Given the description of an element on the screen output the (x, y) to click on. 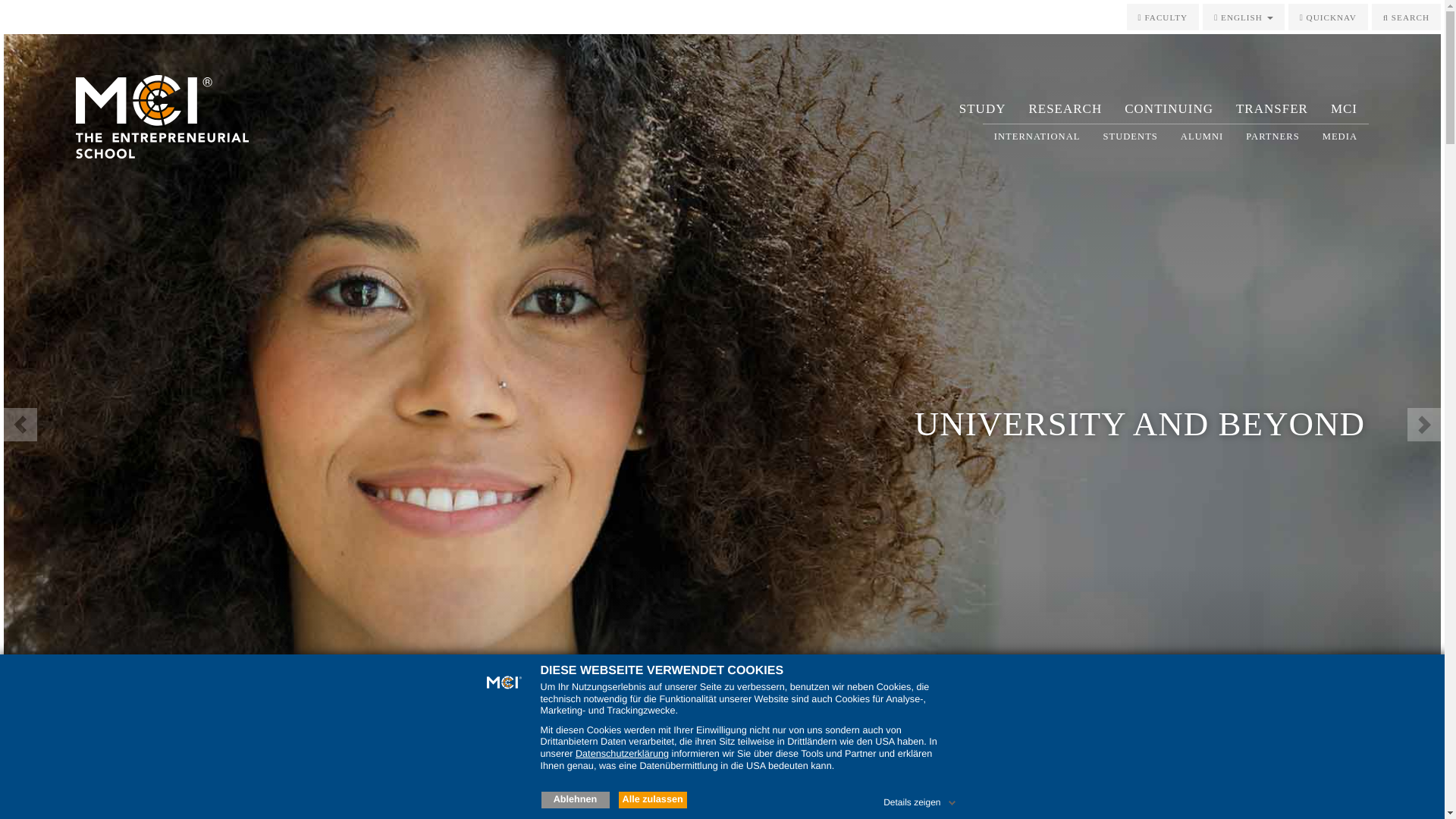
Ablehnen (575, 799)
Details zeigen (920, 799)
Alle zulassen (652, 799)
